Given the description of an element on the screen output the (x, y) to click on. 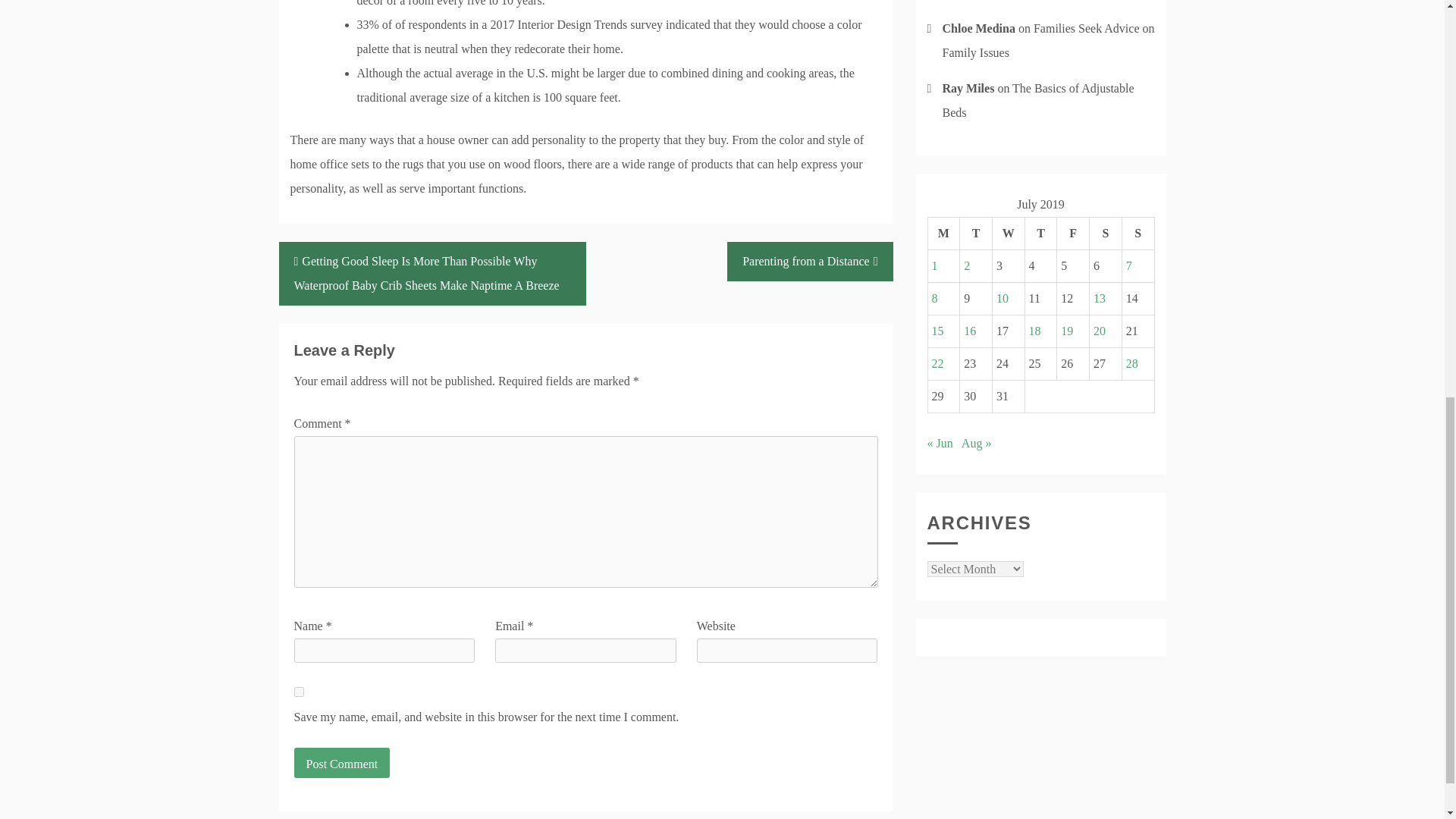
Post Comment (342, 762)
16 (969, 330)
20 (1099, 330)
Sunday (1137, 233)
yes (299, 691)
Tuesday (975, 233)
The Basics of Adjustable Beds (1038, 99)
Families Seek Advice on Family Issues (1048, 40)
28 (1131, 363)
Wednesday (1008, 233)
13 (1099, 297)
10 (1002, 297)
15 (937, 330)
Post Comment (342, 762)
Thursday (1041, 233)
